Given the description of an element on the screen output the (x, y) to click on. 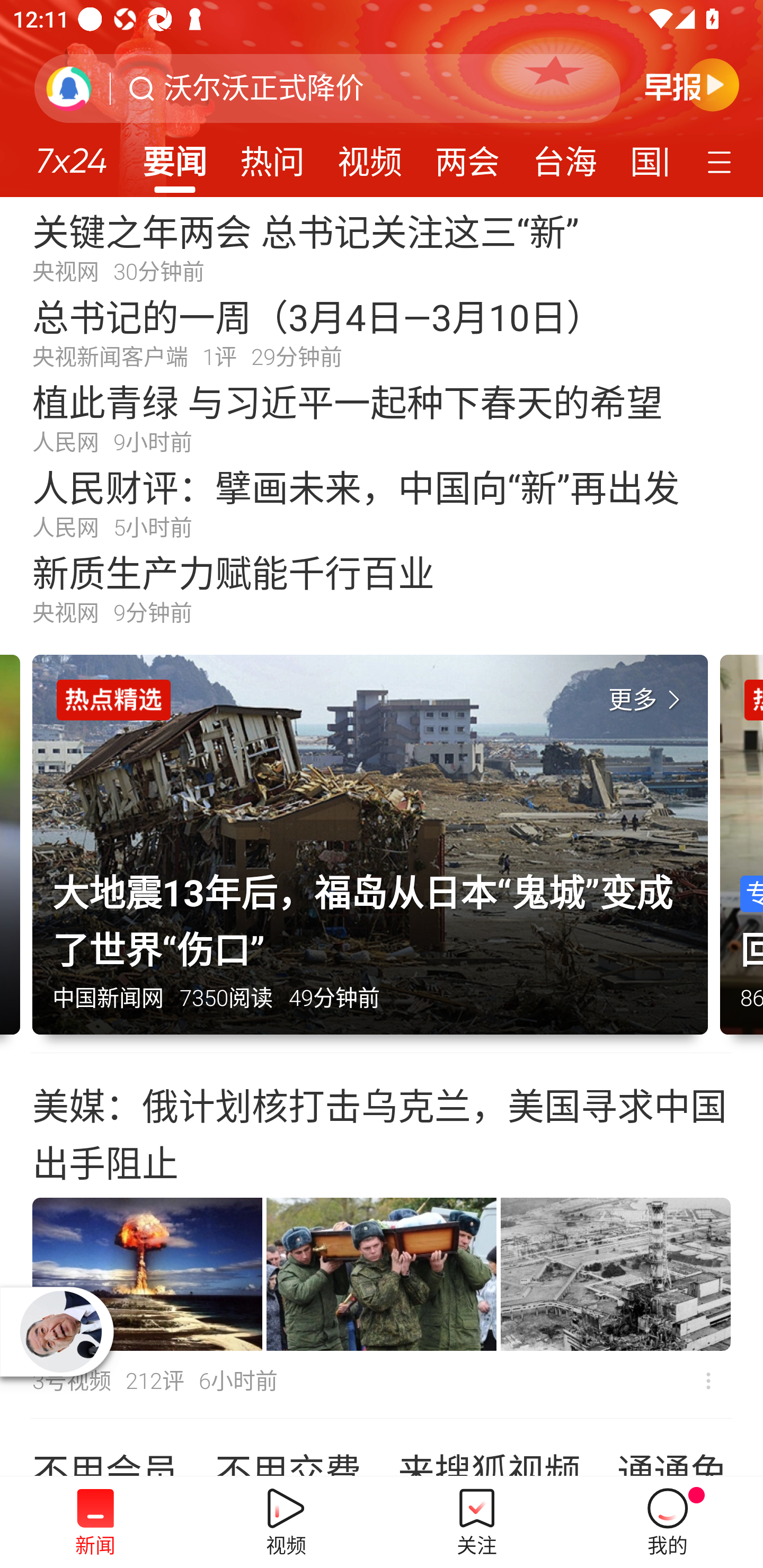
早晚报 (691, 84)
刷新 (68, 88)
沃尔沃正式降价 (263, 88)
7x24 (70, 154)
要闻 (174, 155)
热问 (272, 155)
视频 (369, 155)
两会 (466, 155)
台海 (564, 155)
 定制频道 (721, 160)
关键之年两会 总书记关注这三“新” 央视网 30分钟前 (381, 245)
总书记的一周（3月4日—3月10日） 央视新闻客户端 1评 29分钟前 (381, 331)
植此青绿 与习近平一起种下春天的希望 人民网 9小时前 (381, 416)
人民财评：擘画未来，中国向“新”再出发 人民网 5小时前 (381, 502)
新质生产力赋能千行百业 央视网 9分钟前 (381, 587)
更多  (648, 699)
播放器 (60, 1331)
 不感兴趣 (707, 1381)
